Given the description of an element on the screen output the (x, y) to click on. 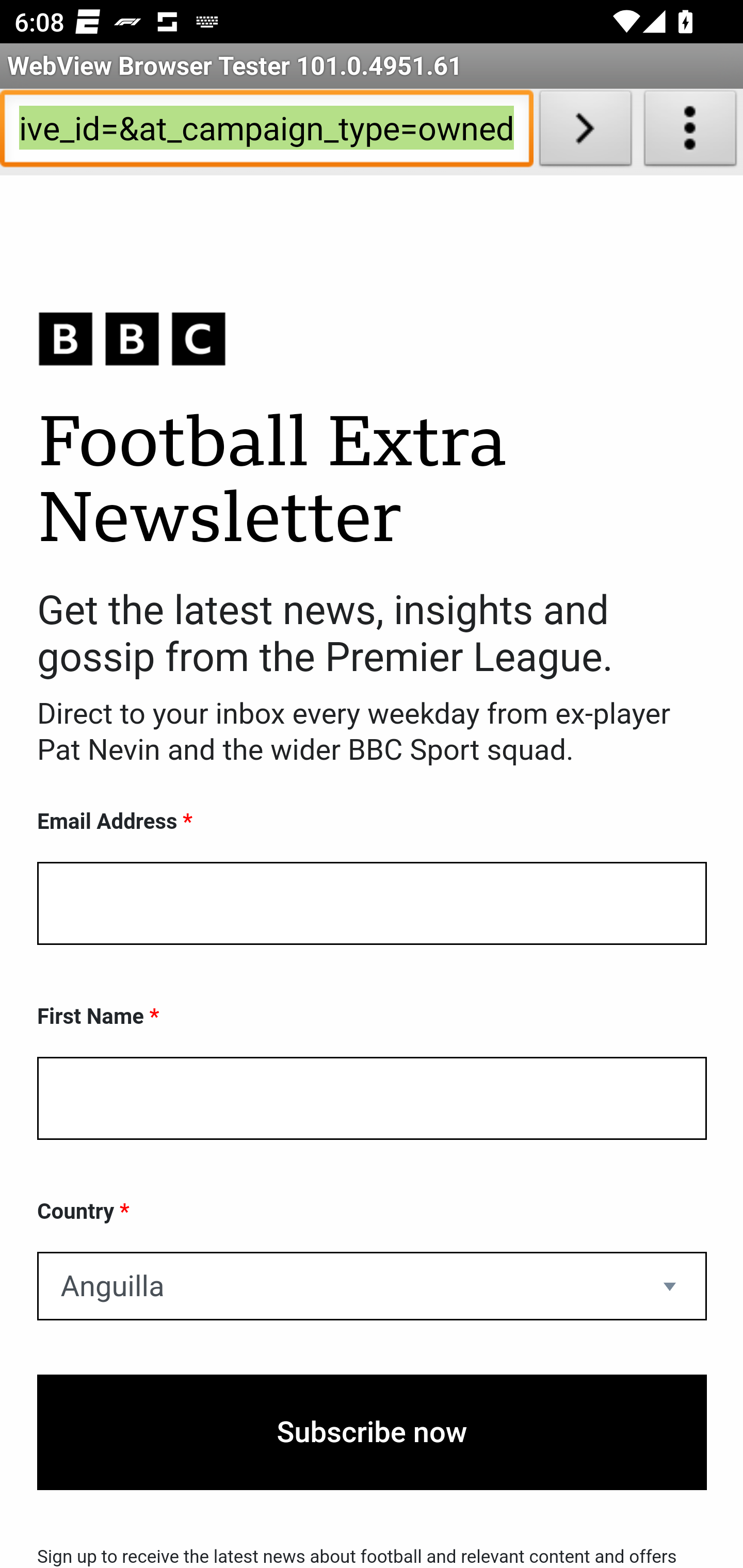
Load URL (585, 132)
About WebView (690, 132)
BBC (372, 338)
Anguilla (372, 1286)
Subscribe now (372, 1432)
